Given the description of an element on the screen output the (x, y) to click on. 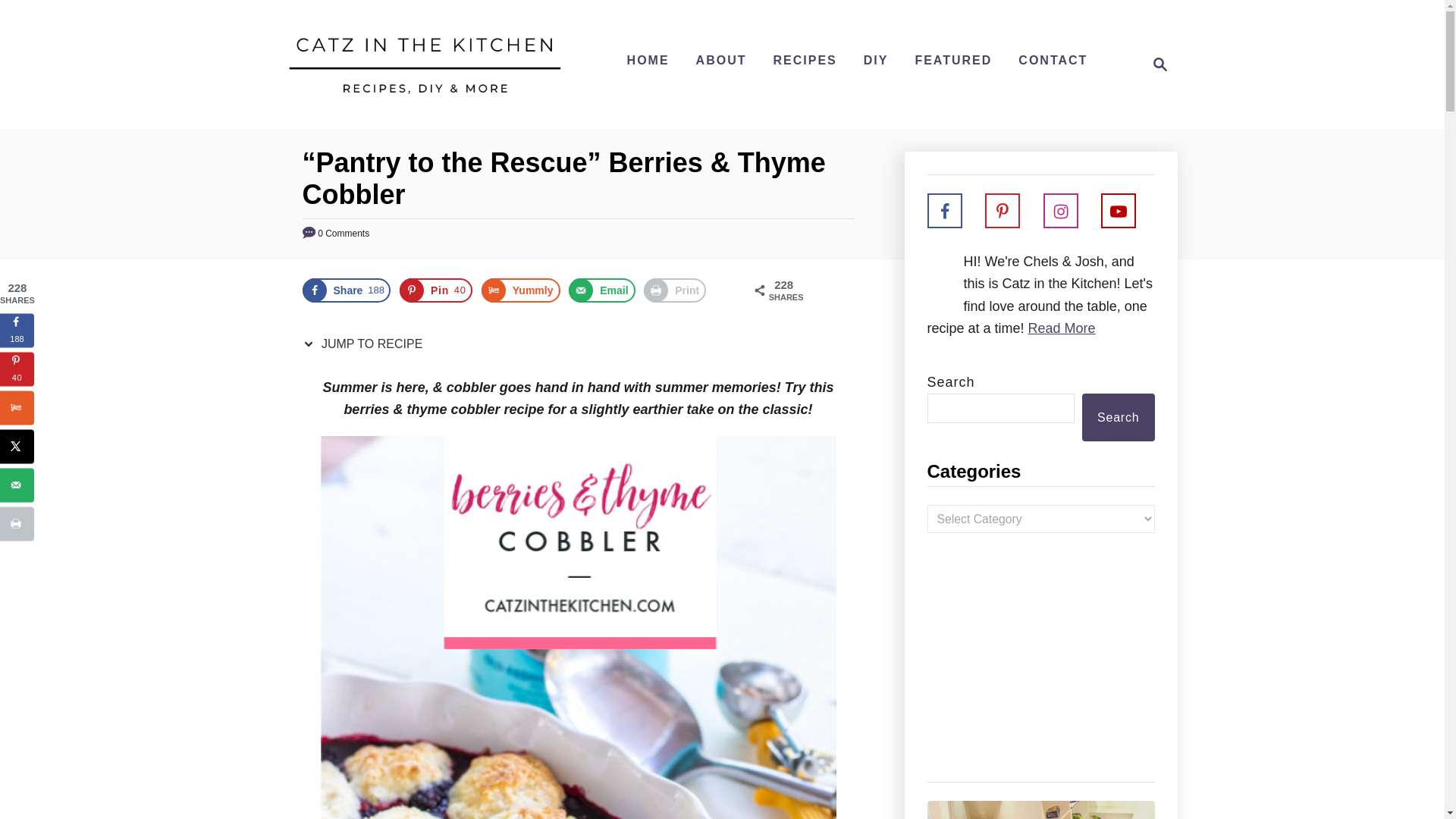
HOME (648, 60)
JUMP TO RECIPE (434, 290)
Print this webpage (365, 343)
Share on Yummly (674, 290)
CONTACT (520, 290)
Send over email (1052, 60)
Magnifying Glass (601, 290)
DIY (1160, 64)
Print (876, 60)
